Given the description of an element on the screen output the (x, y) to click on. 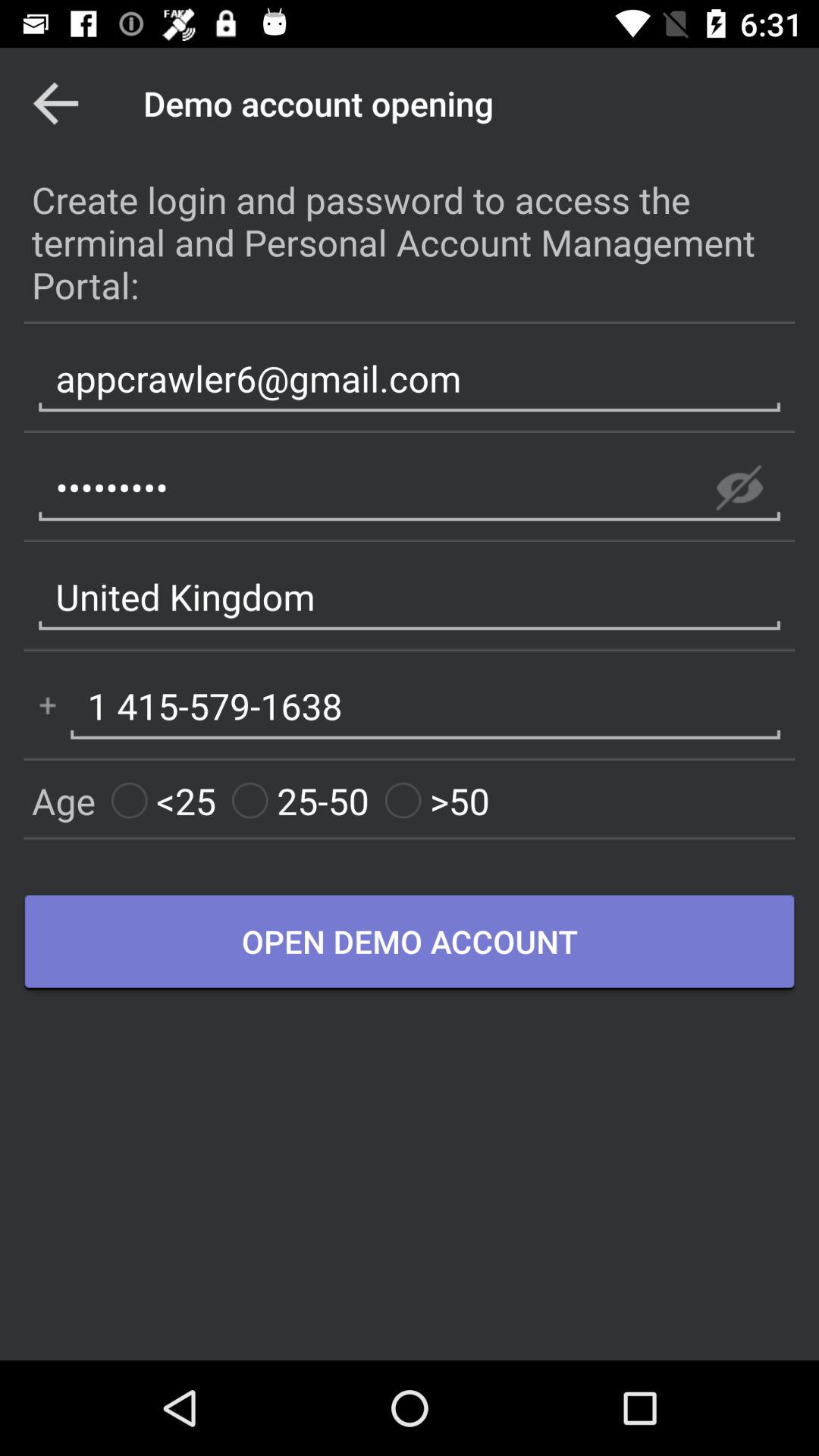
open 25-50 icon (300, 800)
